Given the description of an element on the screen output the (x, y) to click on. 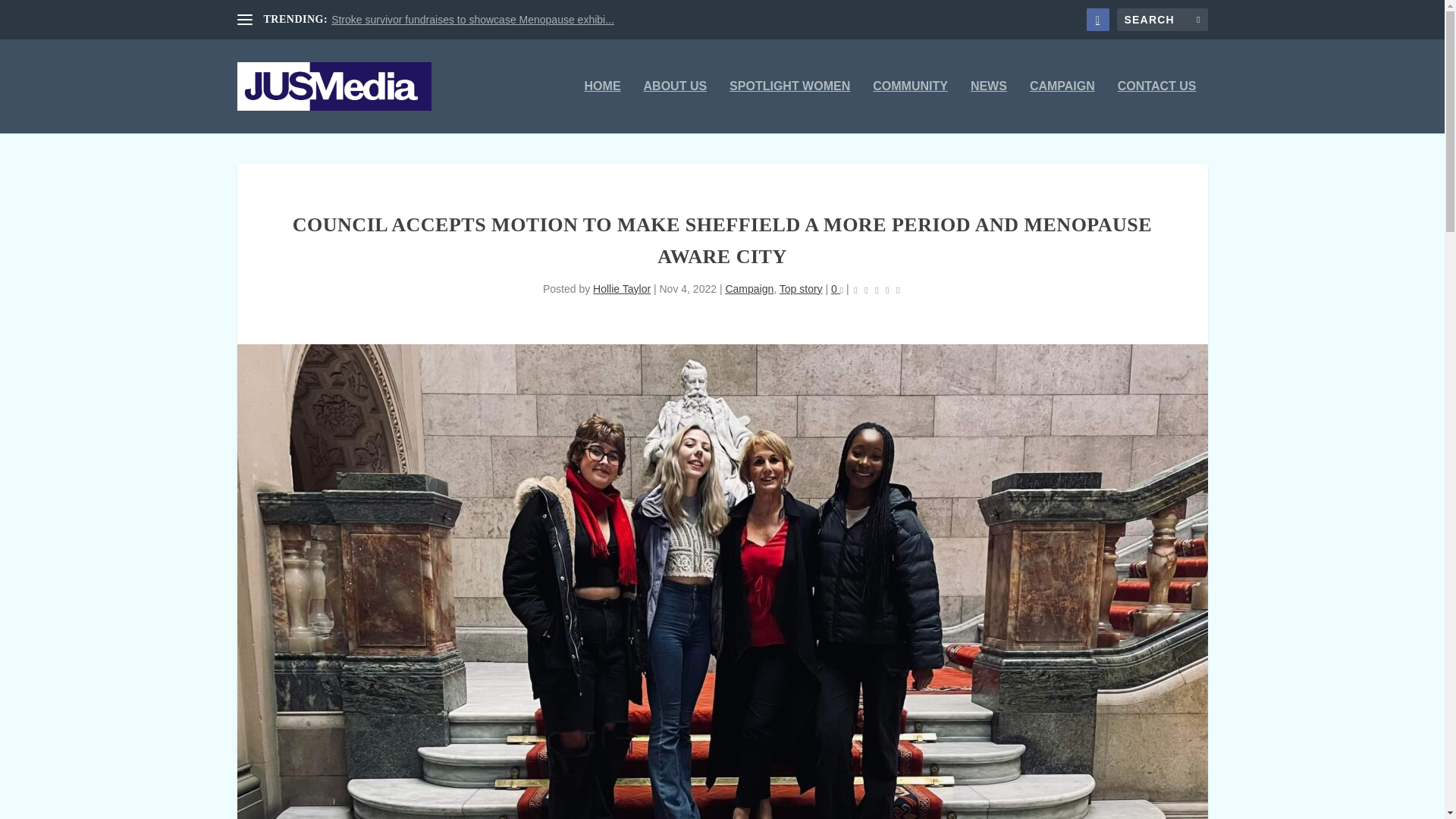
0 (837, 288)
Rating: 0.00 (876, 289)
Campaign (749, 288)
Search for: (1161, 19)
Stroke survivor fundraises to showcase Menopause exhibi... (472, 19)
SPOTLIGHT WOMEN (789, 106)
Hollie Taylor (621, 288)
COMMUNITY (909, 106)
CAMPAIGN (1061, 106)
Posts by Hollie Taylor (621, 288)
ABOUT US (675, 106)
Top story (800, 288)
CONTACT US (1157, 106)
